Given the description of an element on the screen output the (x, y) to click on. 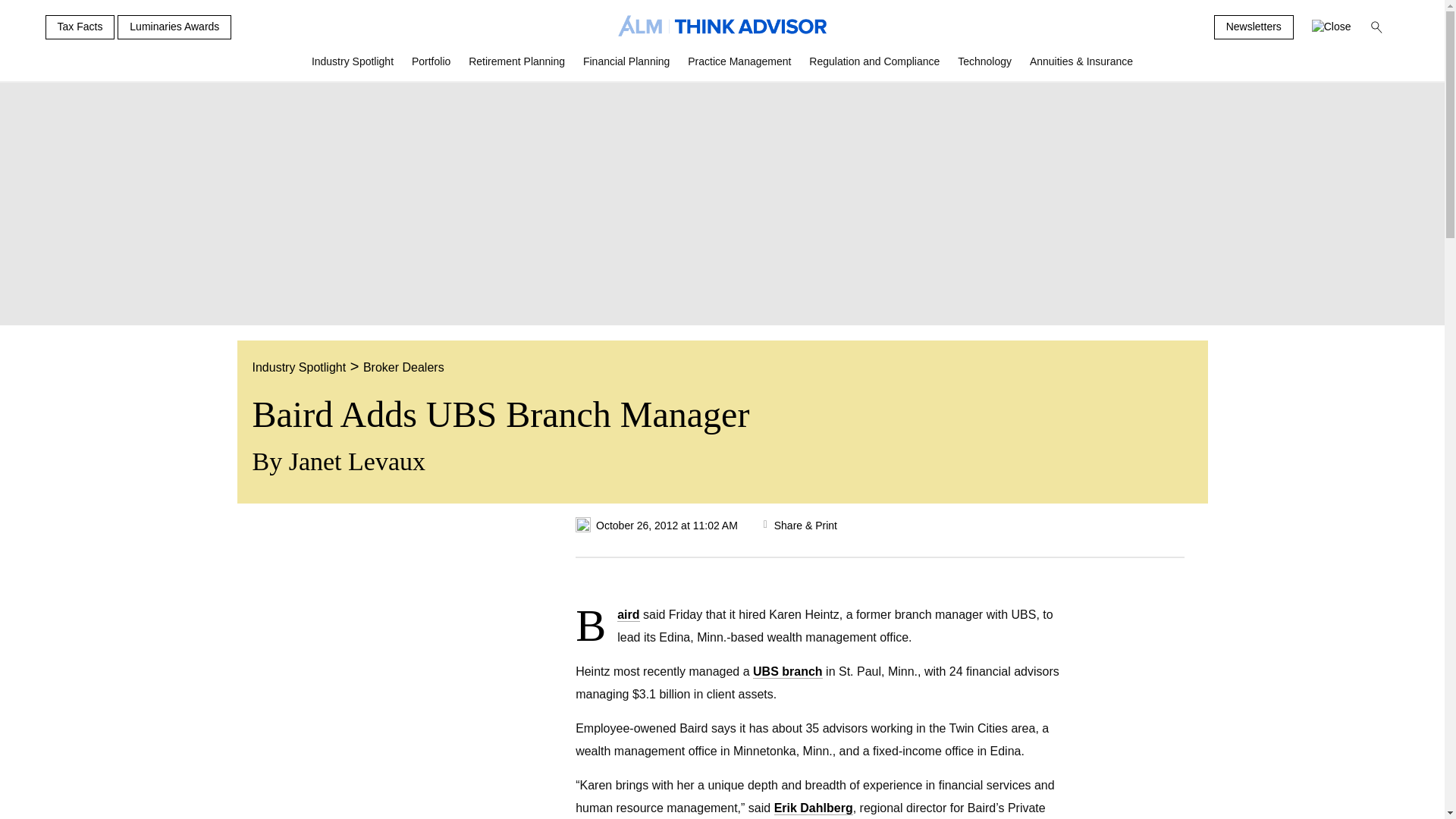
Industry Spotlight (352, 67)
Luminaries Awards (174, 27)
Tax Facts (80, 27)
Newsletters (1254, 27)
